Given the description of an element on the screen output the (x, y) to click on. 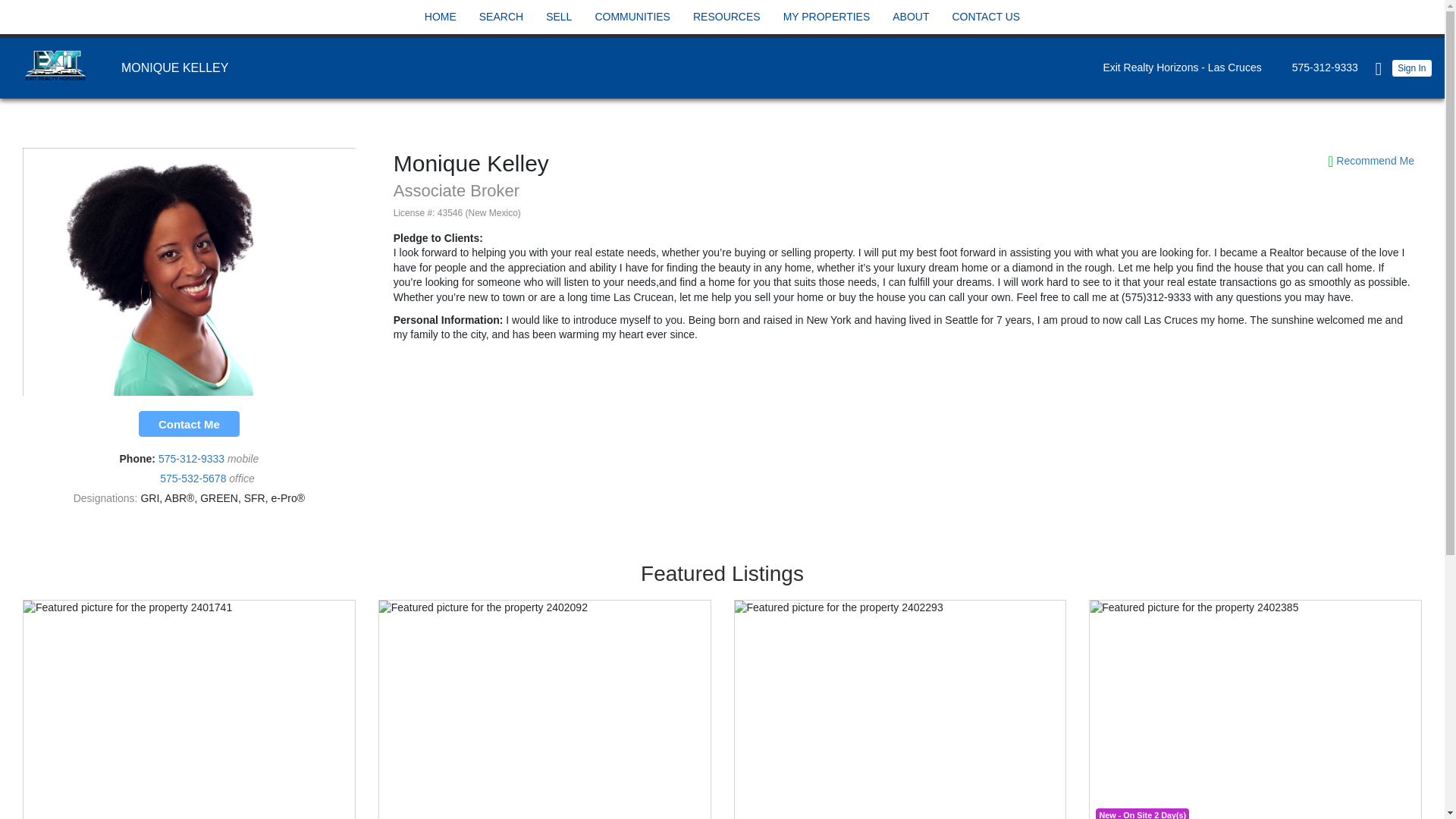
575-312-9333 (192, 458)
SELL (558, 17)
MY PROPERTIES (826, 17)
Sign In (1411, 67)
Featured Property (1255, 709)
Featured Property (900, 709)
HOME (440, 17)
Contact Me (189, 423)
Featured Property (544, 709)
RESOURCES (726, 17)
ABOUT (910, 17)
Featured Property (189, 709)
575-312-9333 (1321, 67)
COMMUNITIES (632, 17)
SEARCH (501, 17)
